Given the description of an element on the screen output the (x, y) to click on. 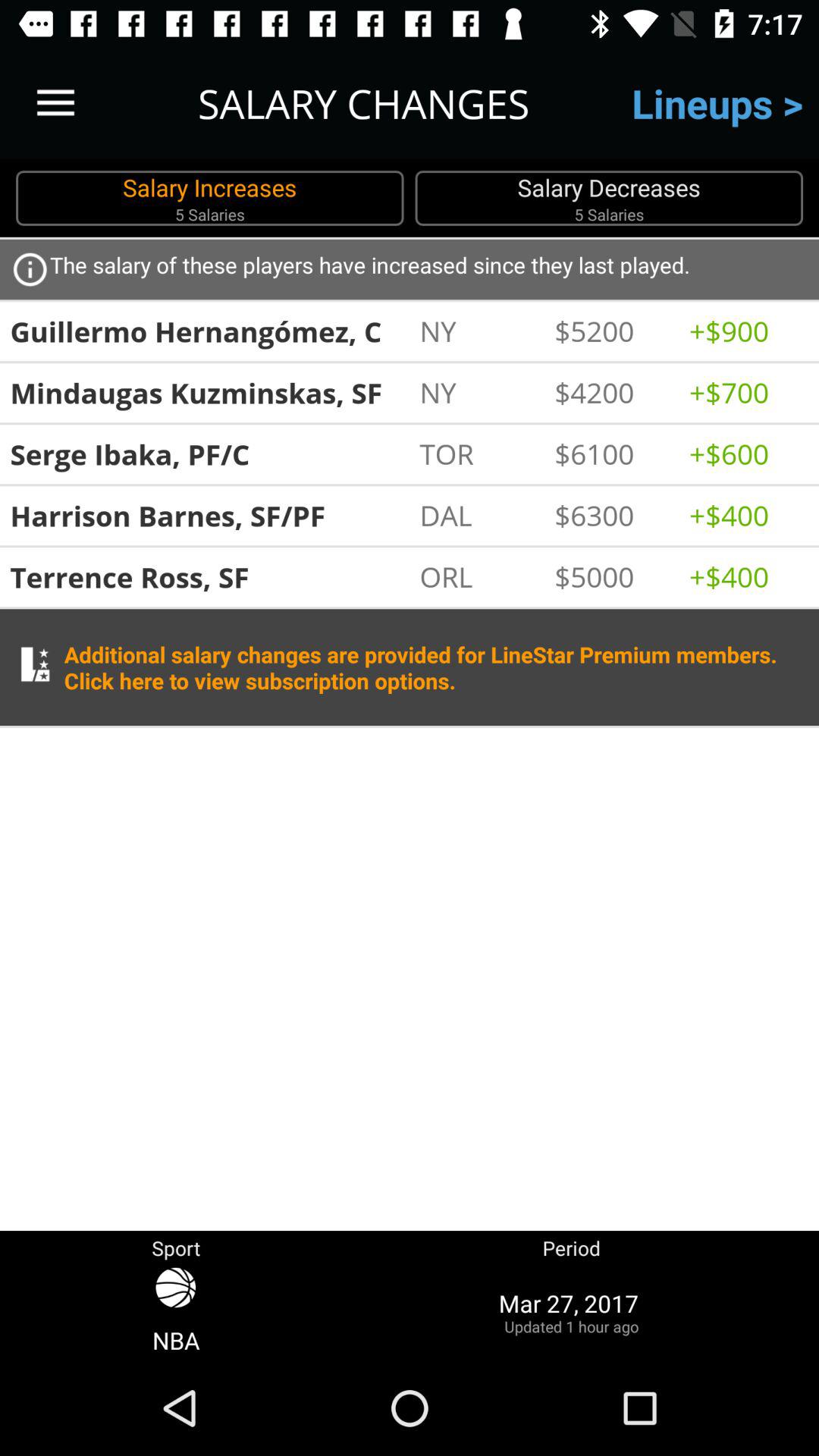
choose item above +$600 icon (748, 392)
